Given the description of an element on the screen output the (x, y) to click on. 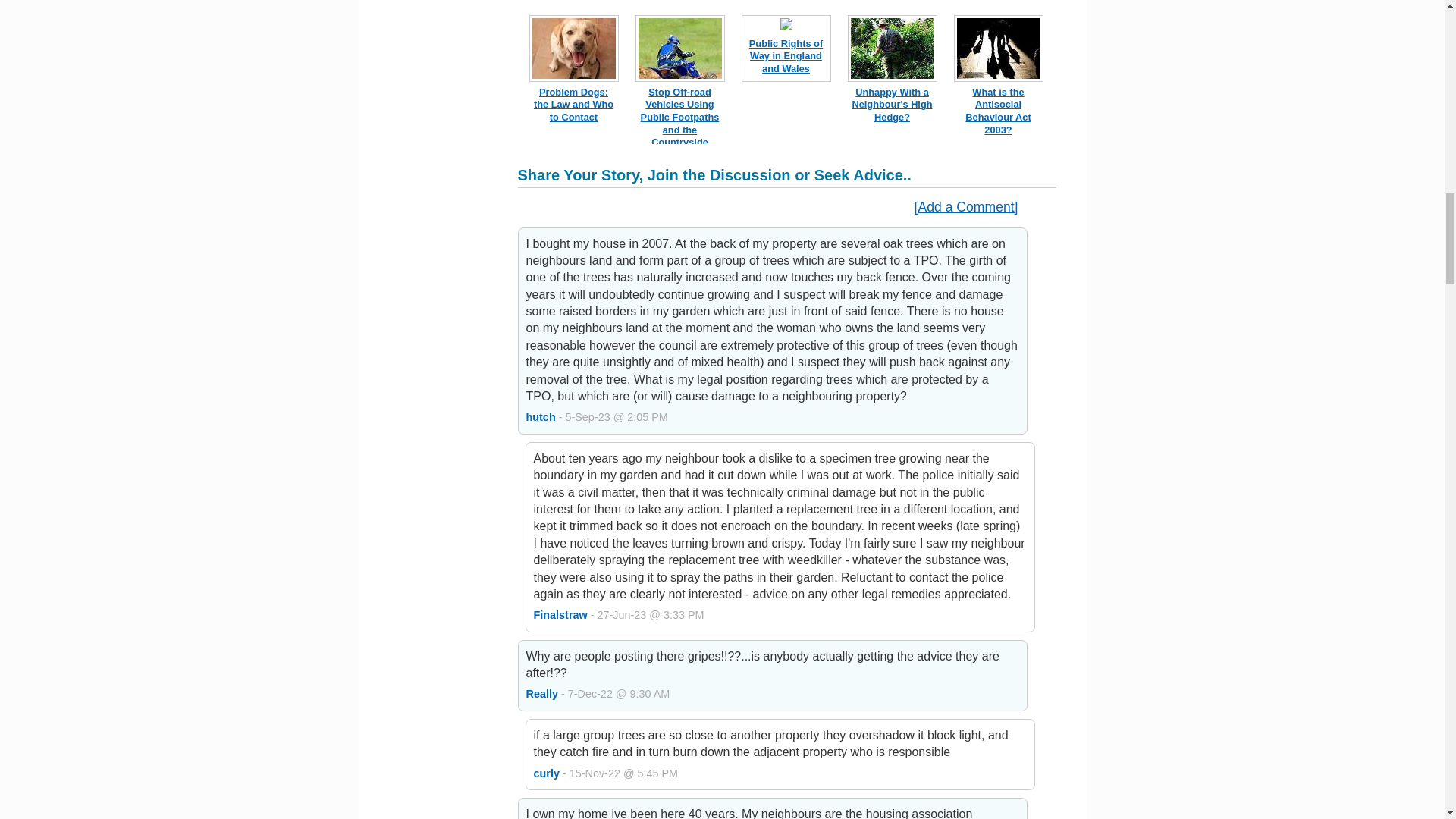
Public Rights of Way in England and Wales (785, 55)
Problem Dogs: the Law and Who to Contact (573, 104)
What is the Antisocial Behaviour Act 2003? (997, 110)
Unhappy With a Neighbour's High Hedge? (891, 104)
